Given the description of an element on the screen output the (x, y) to click on. 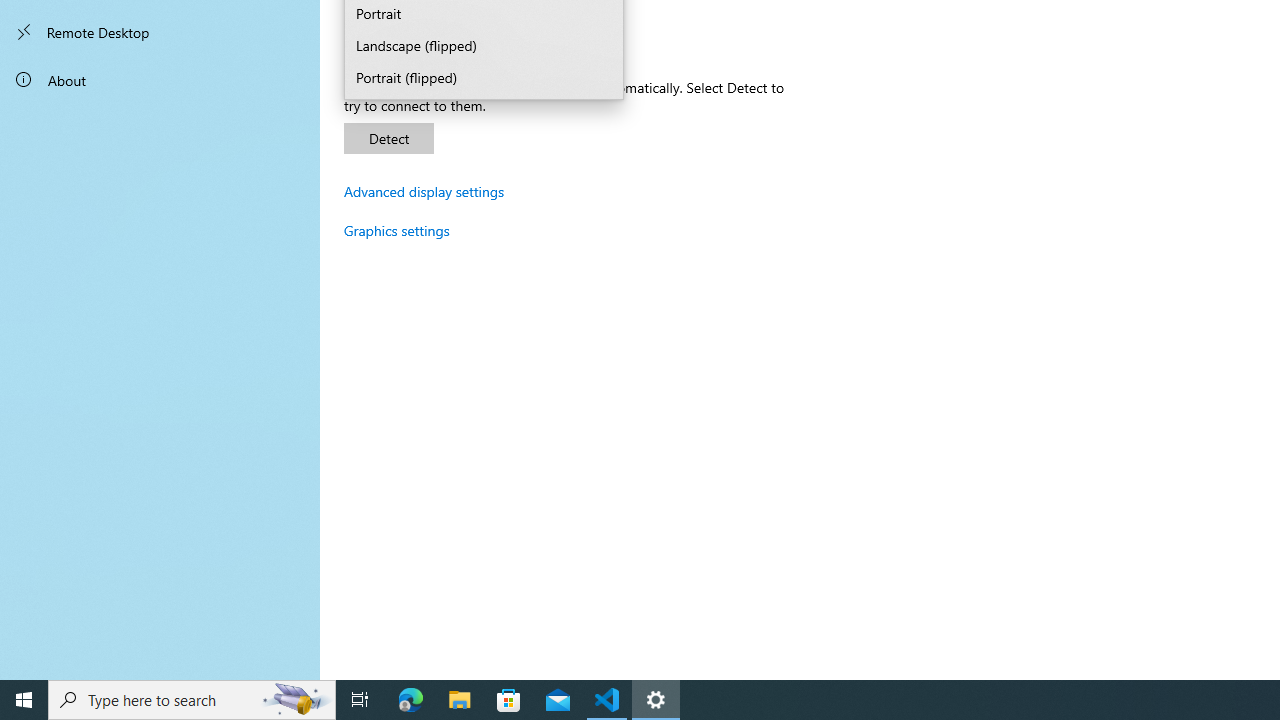
Landscape (flipped) (484, 46)
Graphics settings (397, 230)
